Given the description of an element on the screen output the (x, y) to click on. 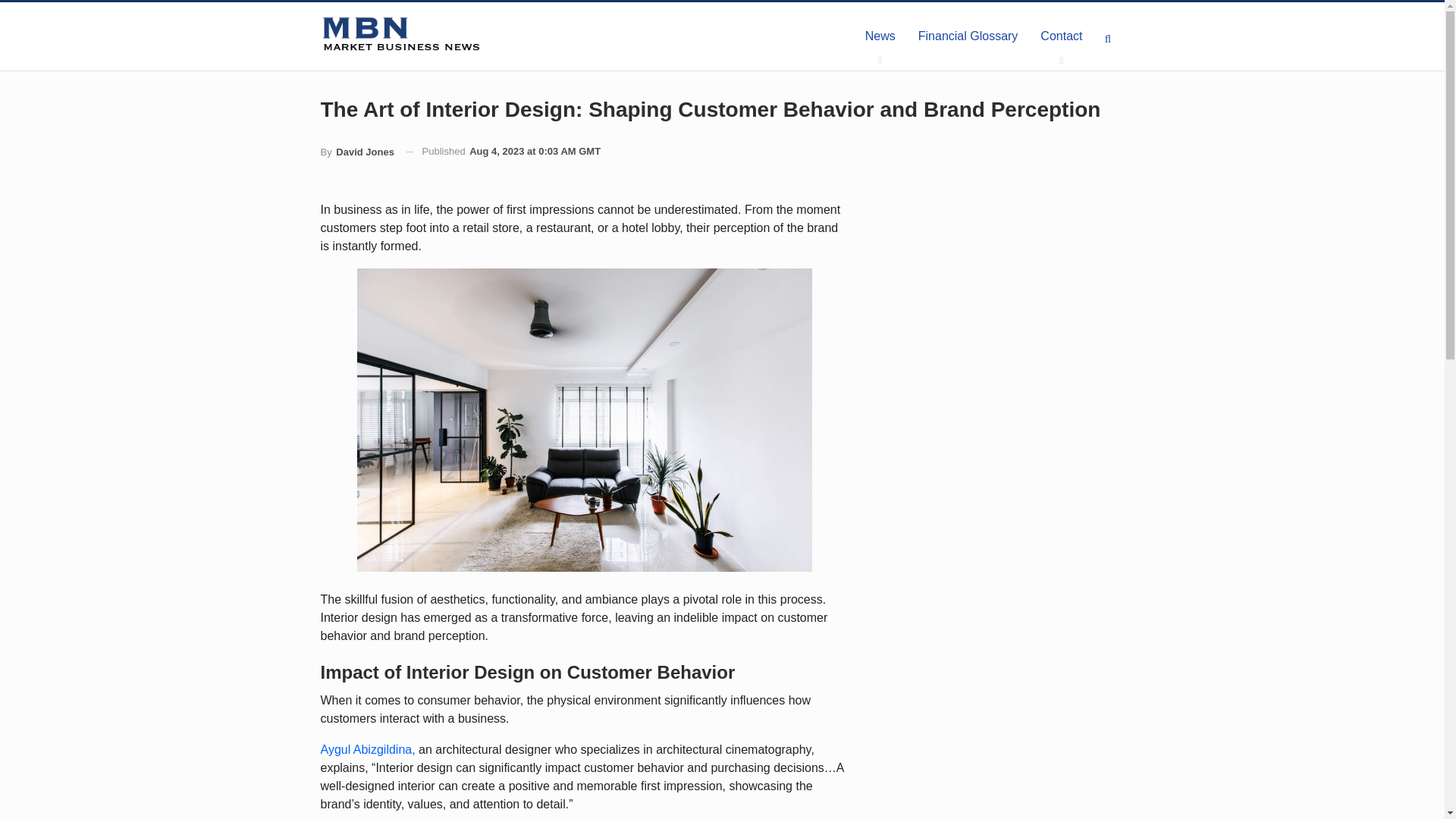
By David Jones (356, 152)
Financial Glossary (968, 36)
Contact (1061, 36)
Aygul Abizgildina, (367, 748)
Browse Author Articles (356, 152)
